Given the description of an element on the screen output the (x, y) to click on. 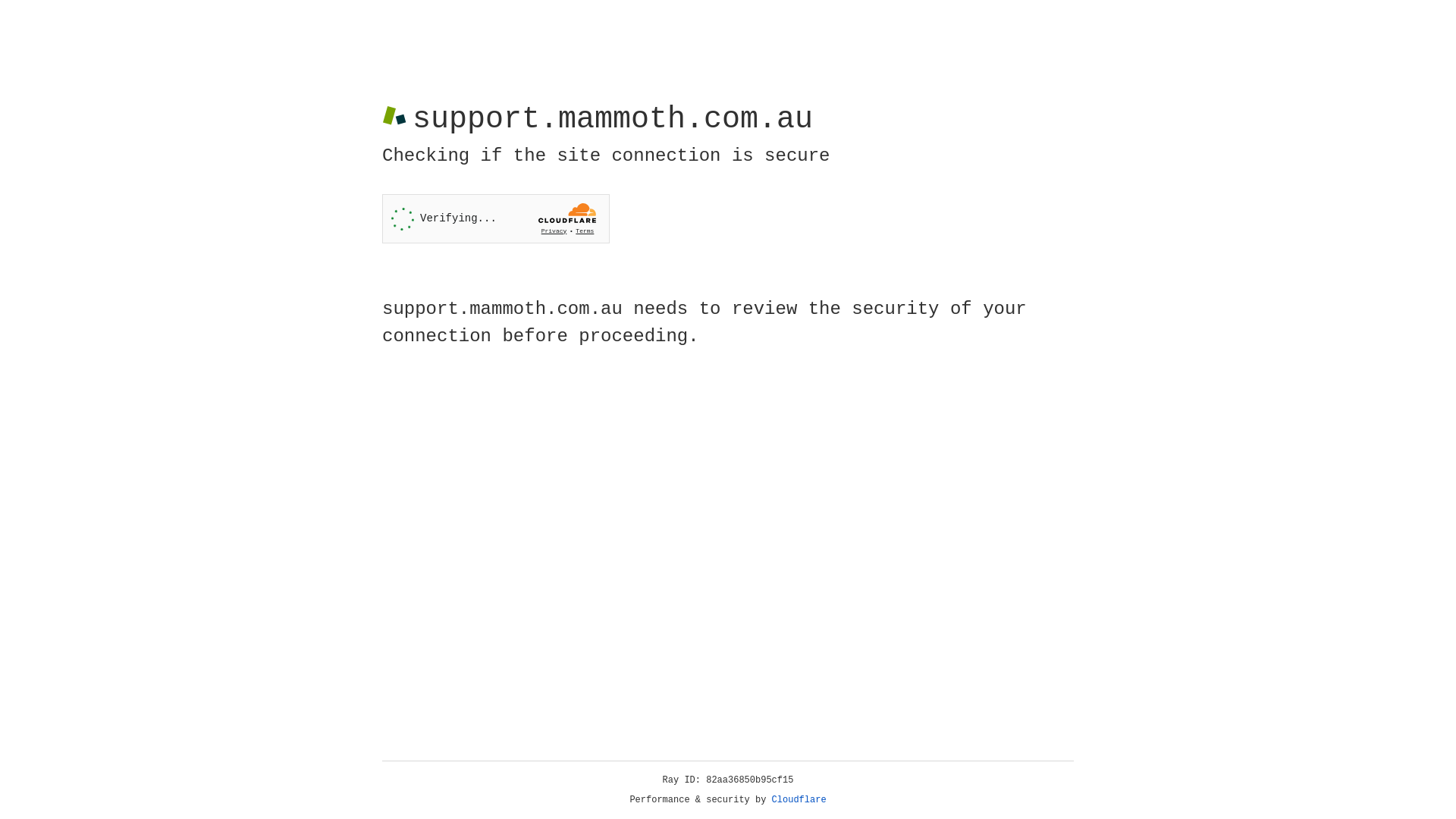
Widget containing a Cloudflare security challenge Element type: hover (495, 218)
Cloudflare Element type: text (798, 799)
